Given the description of an element on the screen output the (x, y) to click on. 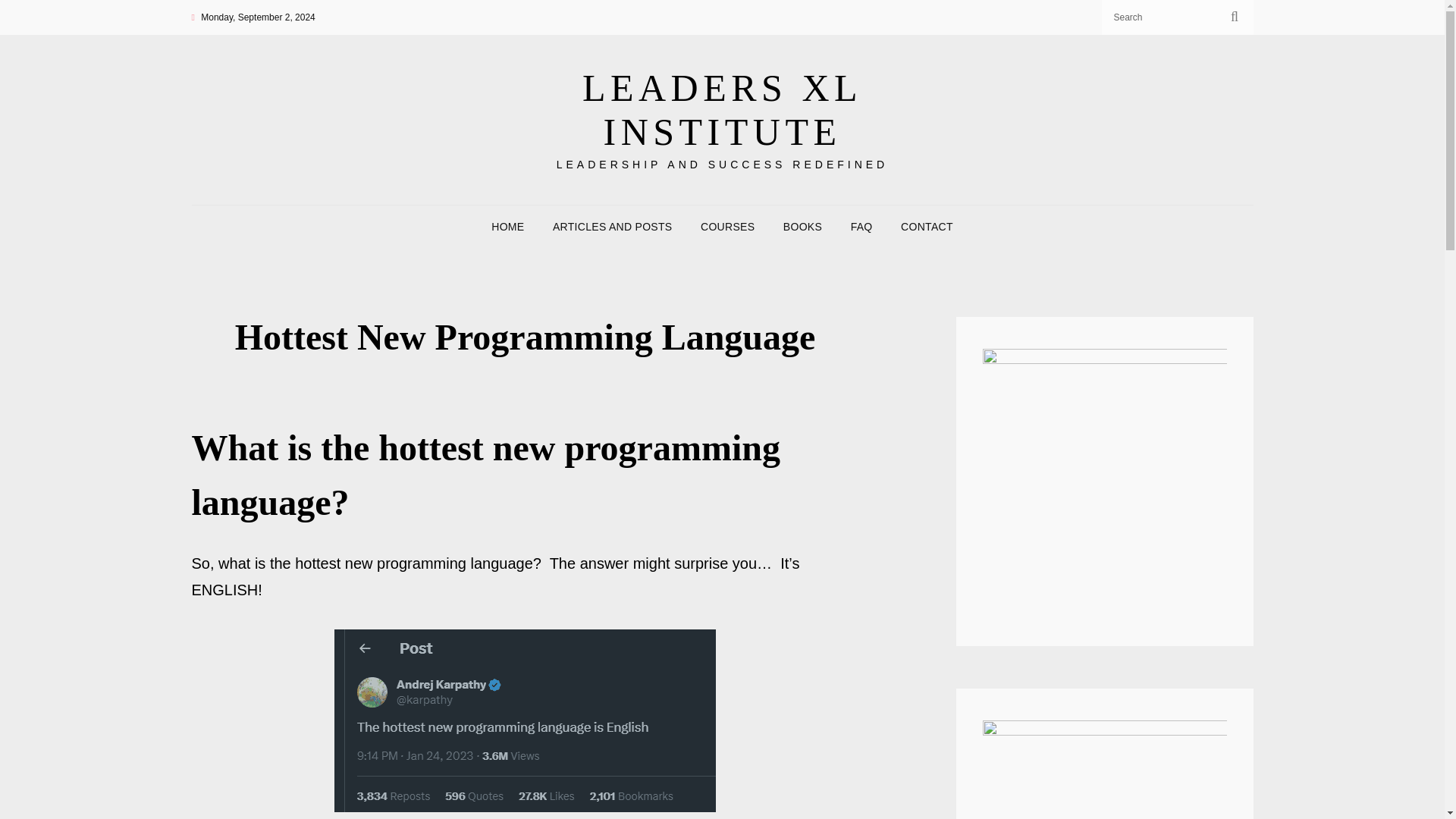
FAQ (861, 226)
COURSES (727, 226)
CONTACT (926, 226)
Search (1234, 17)
ARTICLES AND POSTS (612, 226)
LEADERS XL INSTITUTE (721, 109)
HOME (507, 226)
BOOKS (802, 226)
